Given the description of an element on the screen output the (x, y) to click on. 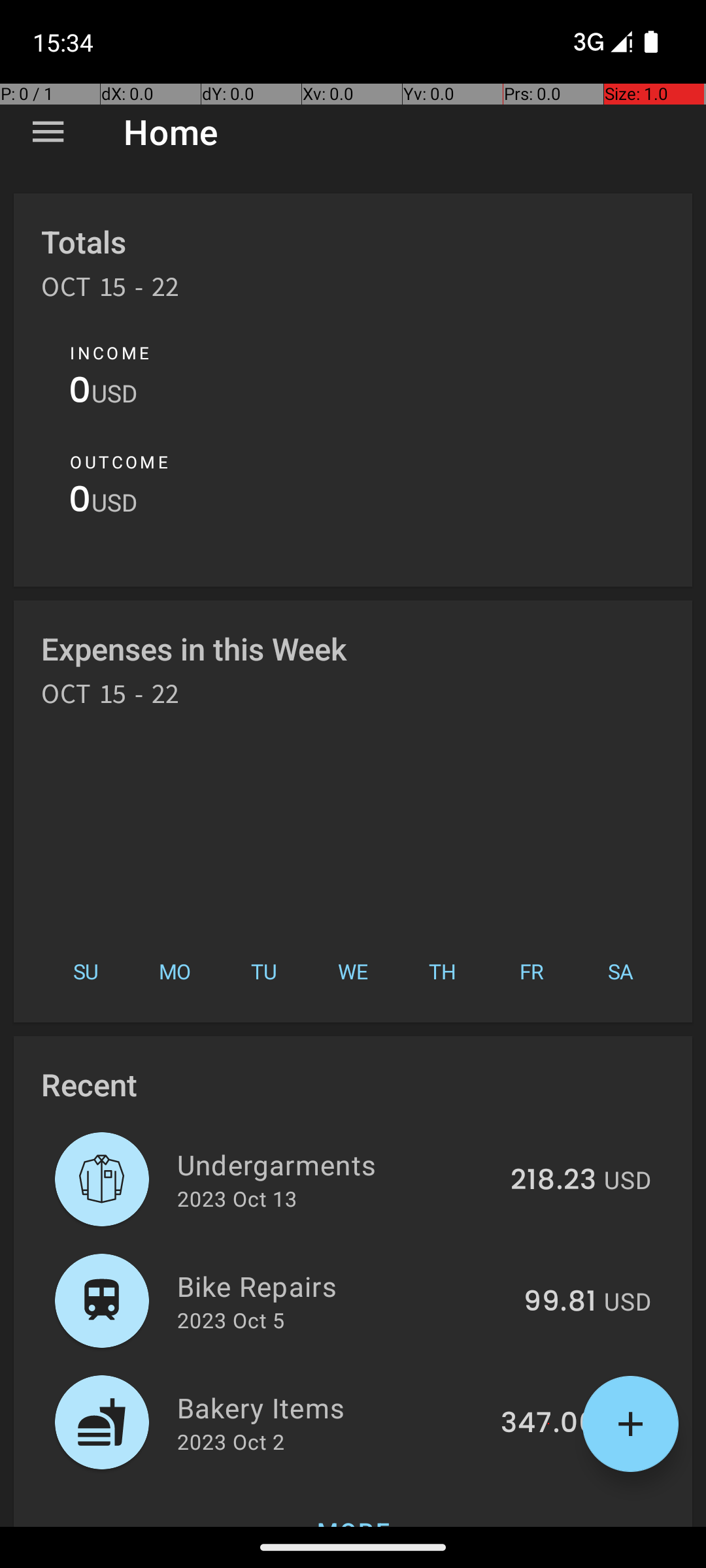
MORE Element type: android.widget.Button (352, 1504)
Undergarments Element type: android.widget.TextView (336, 1164)
218.23 Element type: android.widget.TextView (552, 1180)
Bike Repairs Element type: android.widget.TextView (342, 1285)
2023 Oct 5 Element type: android.widget.TextView (230, 1320)
99.81 Element type: android.widget.TextView (559, 1301)
Bakery Items Element type: android.widget.TextView (331, 1407)
2023 Oct 2 Element type: android.widget.TextView (230, 1441)
347.06 Element type: android.widget.TextView (548, 1423)
